Given the description of an element on the screen output the (x, y) to click on. 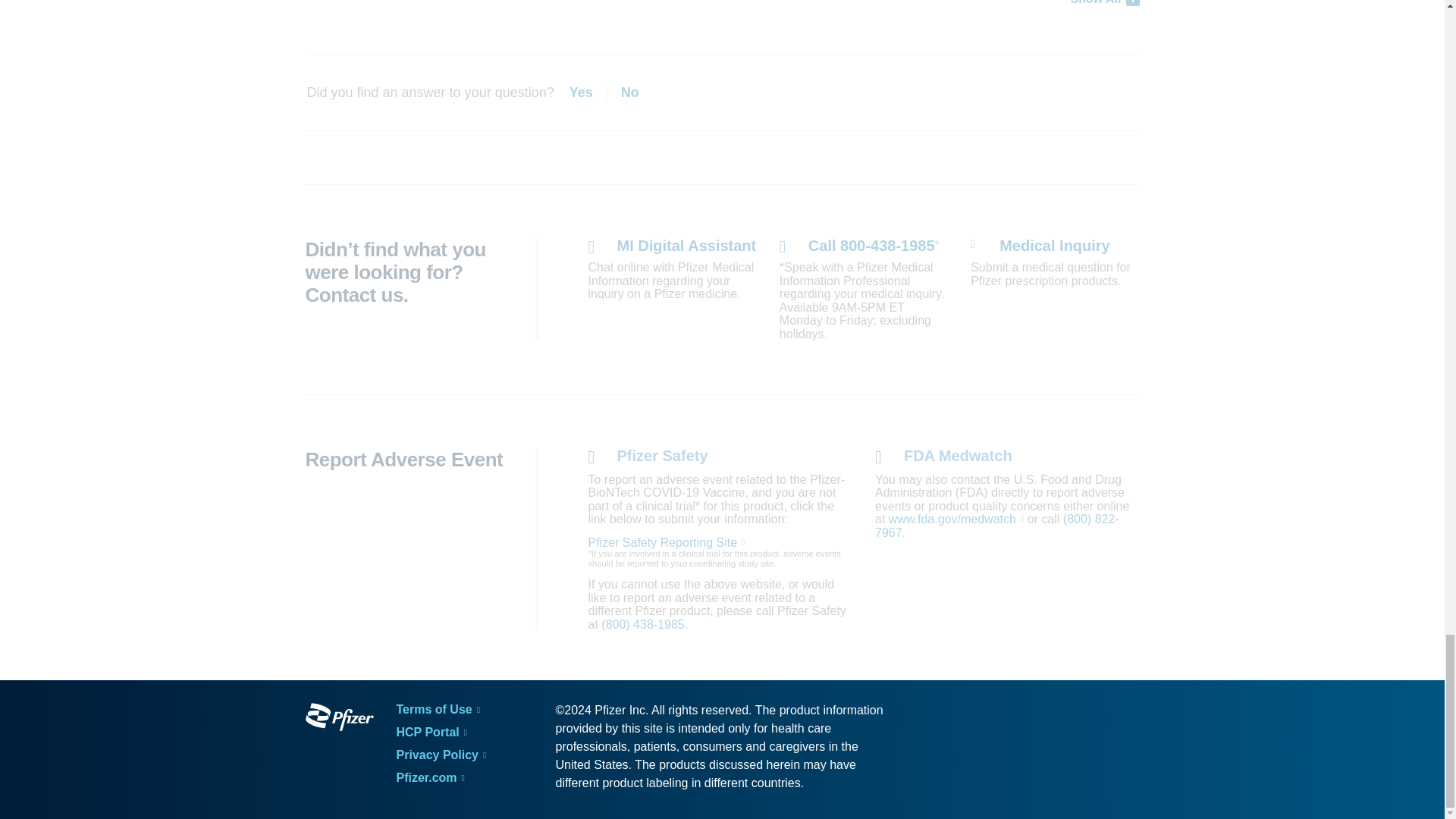
Yes (588, 92)
Pfizer Medical Information (338, 719)
No (629, 92)
